Given the description of an element on the screen output the (x, y) to click on. 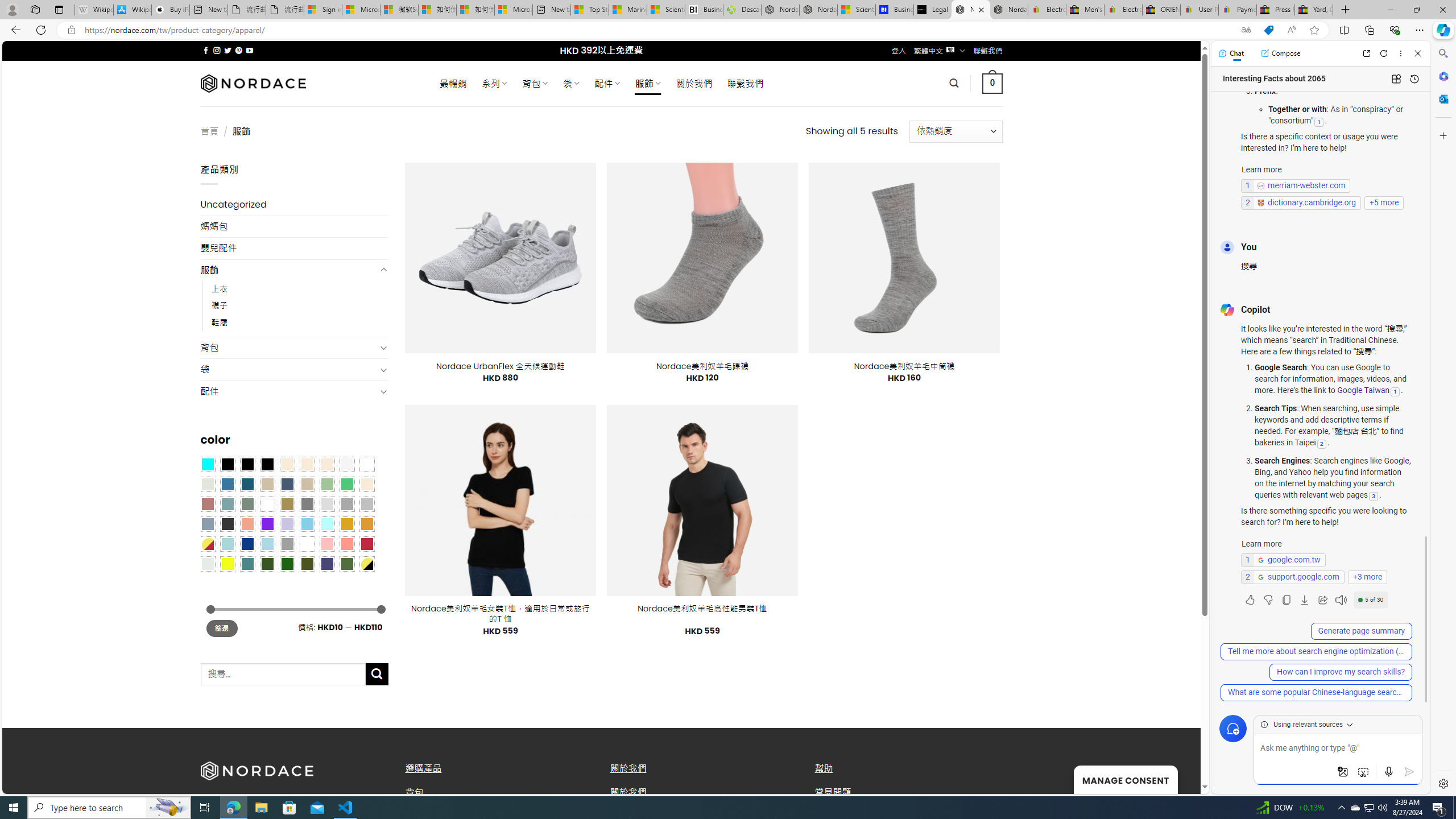
This site has coupons! Shopping in Microsoft Edge (1268, 29)
